Given the description of an element on the screen output the (x, y) to click on. 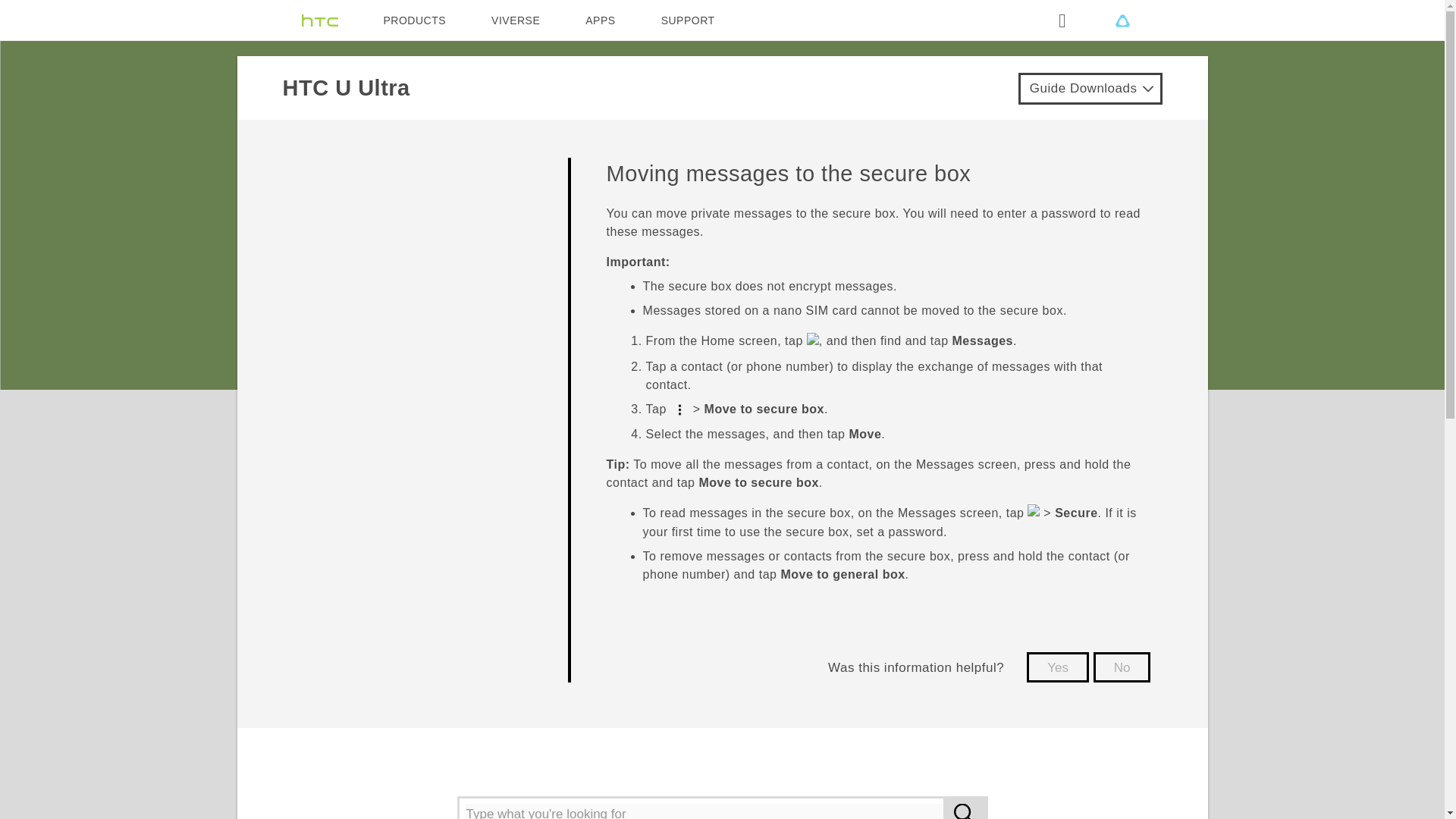
PRODUCTS (415, 20)
VIVERSE (516, 20)
SUPPORT (687, 20)
